Given the description of an element on the screen output the (x, y) to click on. 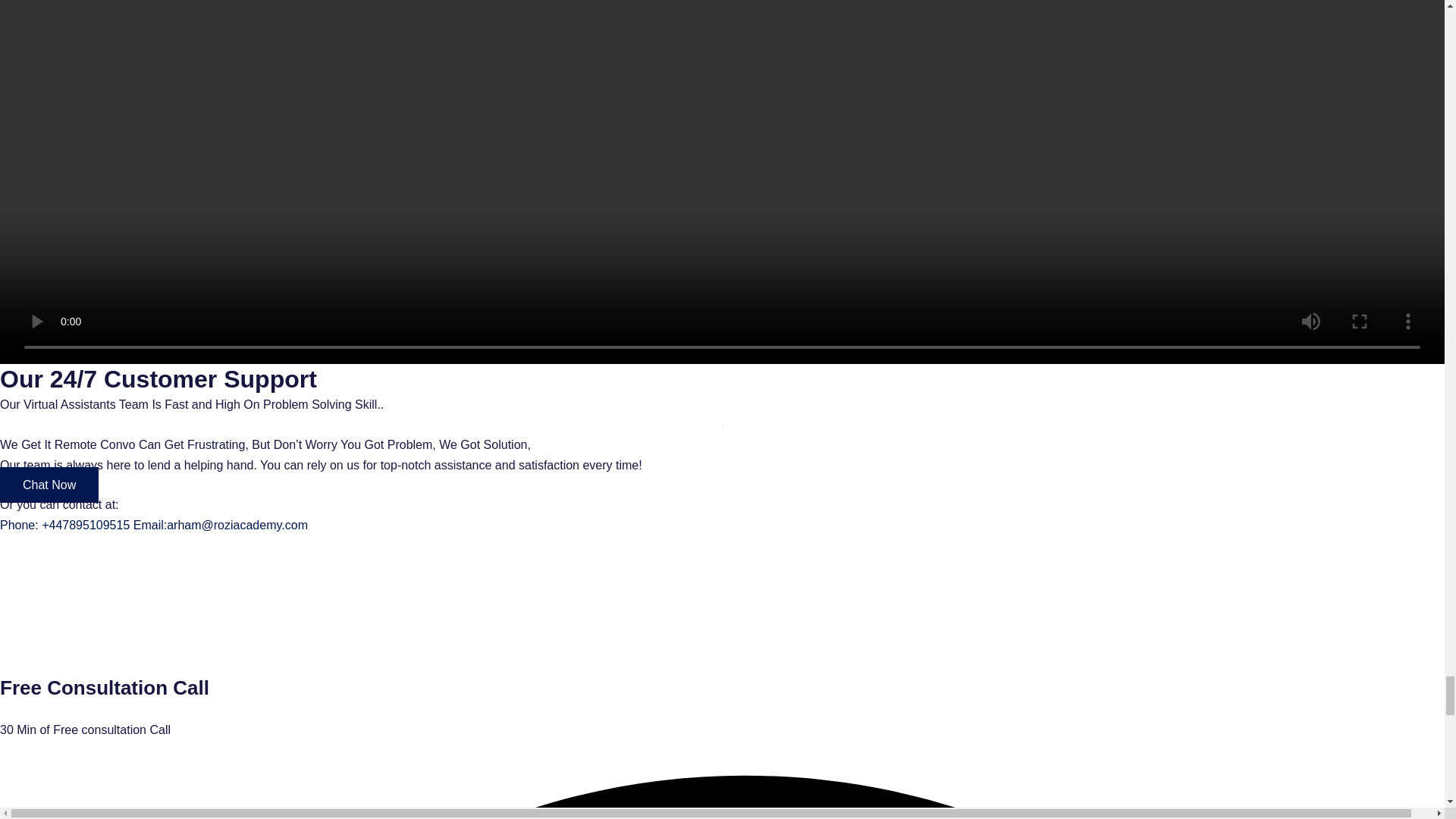
Chat Now (49, 484)
